Given the description of an element on the screen output the (x, y) to click on. 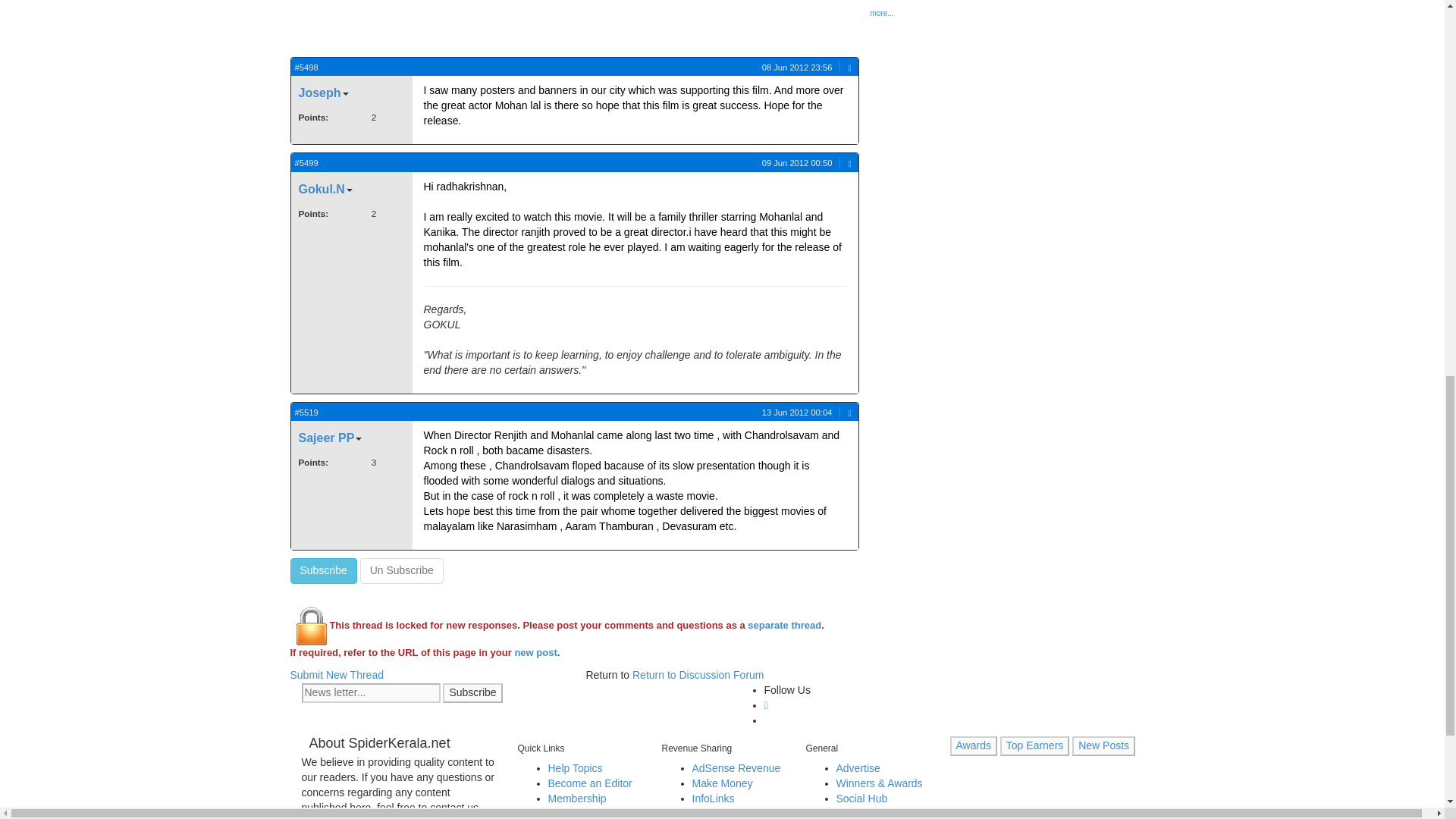
Advertisement (425, 28)
Subscribe (322, 570)
Un Subscribe (401, 570)
